Given the description of an element on the screen output the (x, y) to click on. 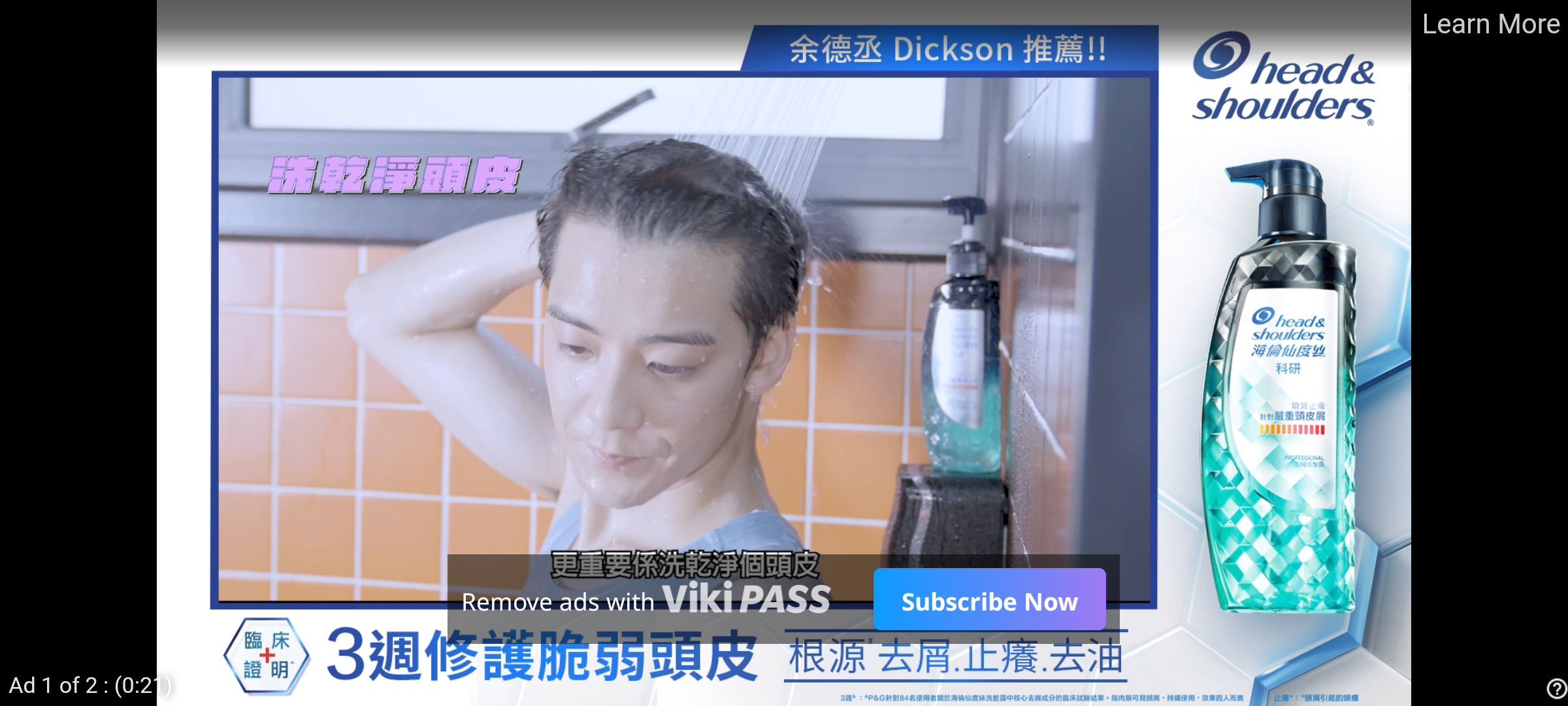
Learn More (1490, 24)
Subscribe Now (989, 599)
Ad 1 of 2 : (0:21) (90, 684)
help_outline_white_24dp_with_3px_trbl_padding (1553, 688)
